Given the description of an element on the screen output the (x, y) to click on. 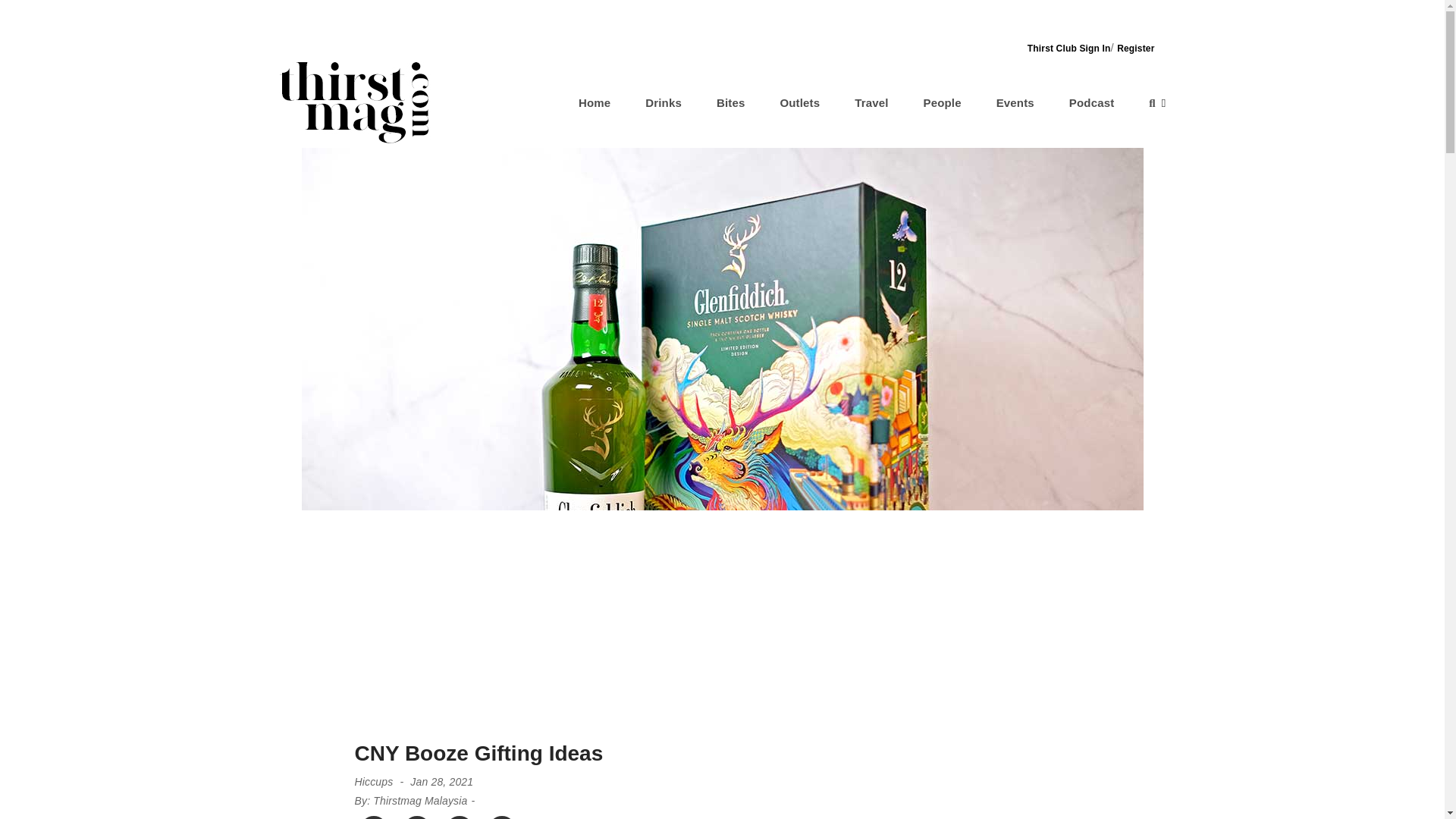
Thirst Club Sign In (1068, 48)
Thirstmag Malaysia (419, 800)
Hiccups (373, 781)
Register (1135, 48)
